Given the description of an element on the screen output the (x, y) to click on. 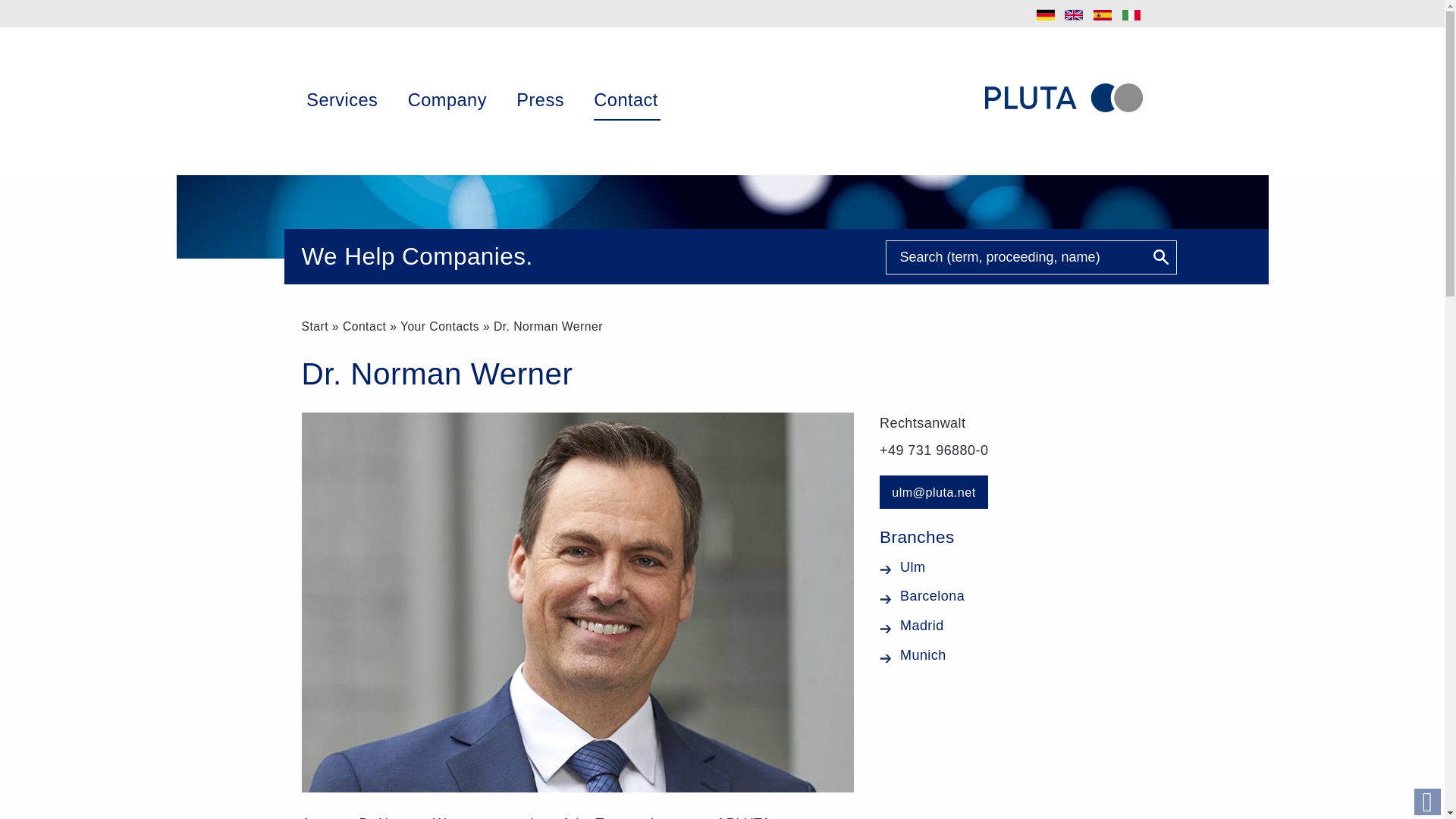
DE (1045, 15)
IT (1130, 15)
EN (1073, 15)
ES (1102, 15)
